Given the description of an element on the screen output the (x, y) to click on. 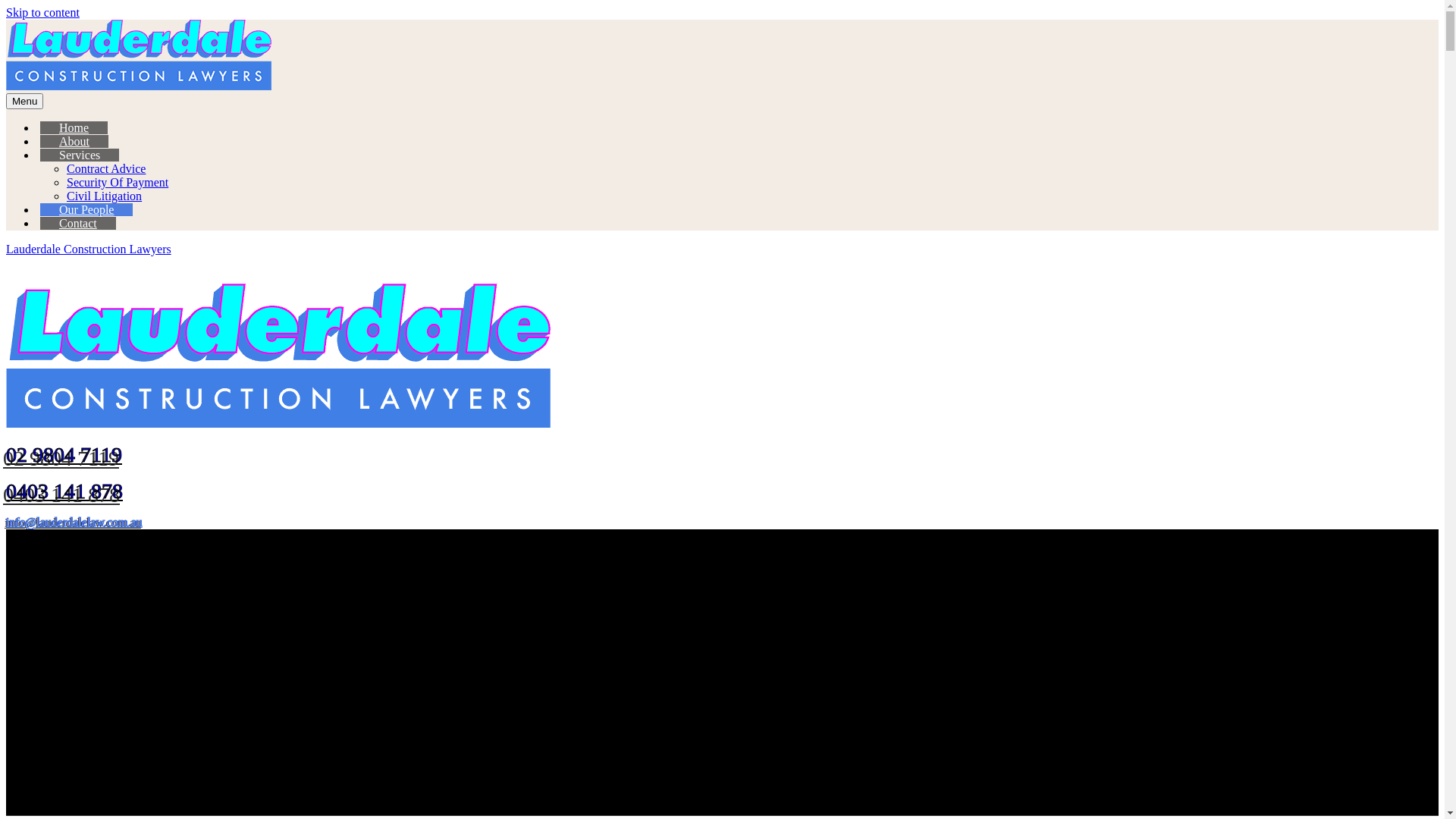
Contract Advice Element type: text (105, 168)
Lauderdale Construction Lawyers Element type: text (88, 248)
Our People Element type: text (86, 209)
Security Of Payment Element type: text (117, 181)
About Element type: text (74, 140)
Skip to content Element type: text (42, 12)
02 9804 7119 Element type: text (64, 454)
0403 141 878 Element type: text (64, 490)
Lauderdale Construction Lawyers Element type: hover (278, 355)
Menu Element type: text (24, 101)
Contact Element type: text (78, 222)
Home Element type: text (73, 127)
info@lauderdalelaw.com.au Element type: text (74, 521)
Services Element type: text (79, 154)
Civil Litigation Element type: text (103, 195)
